Given the description of an element on the screen output the (x, y) to click on. 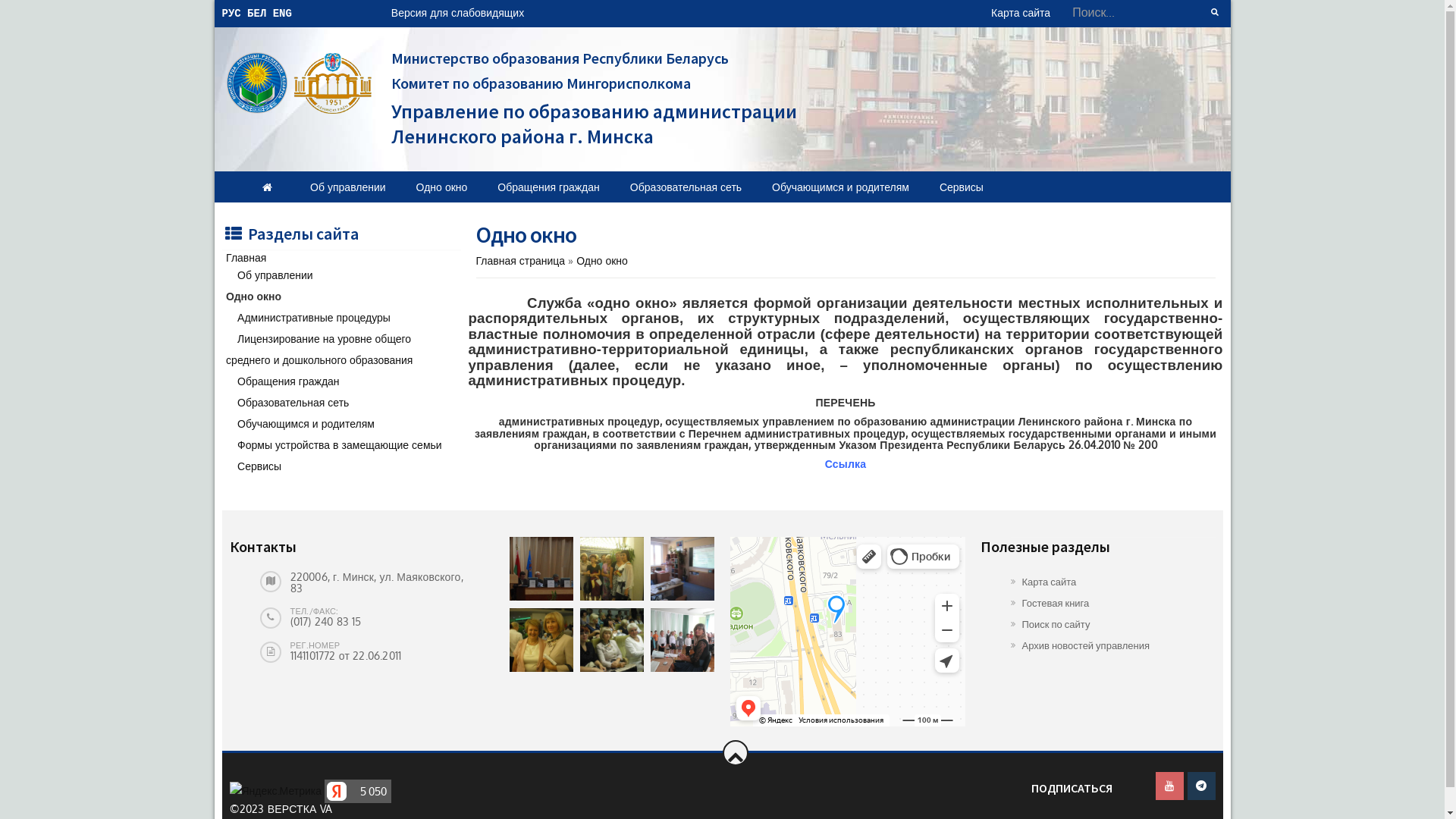
ENG Element type: text (282, 13)
VA Element type: text (326, 808)
